Given the description of an element on the screen output the (x, y) to click on. 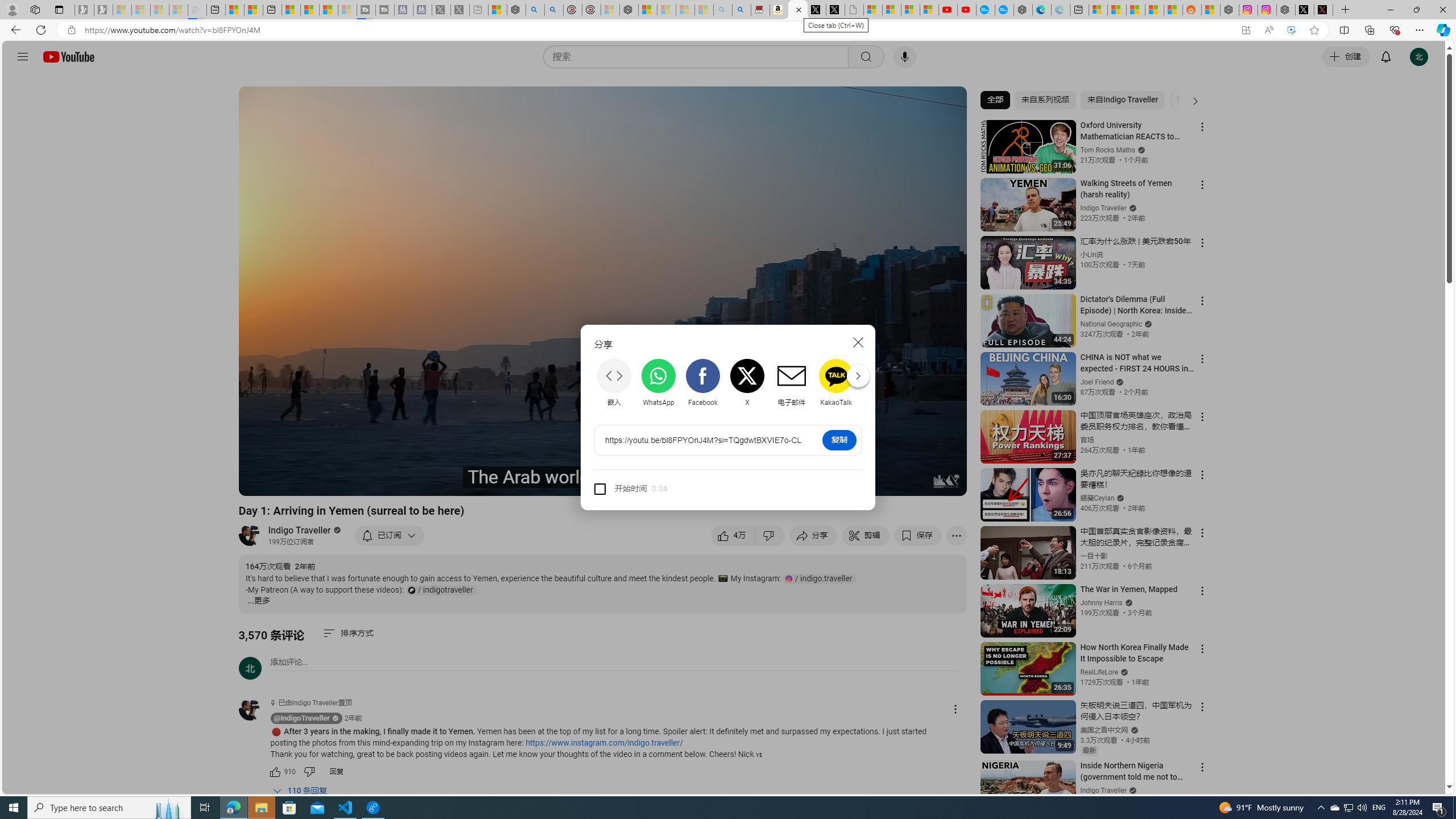
Reddit (879, 382)
Patreon Channel Link: indigotraveller (441, 590)
